Given the description of an element on the screen output the (x, y) to click on. 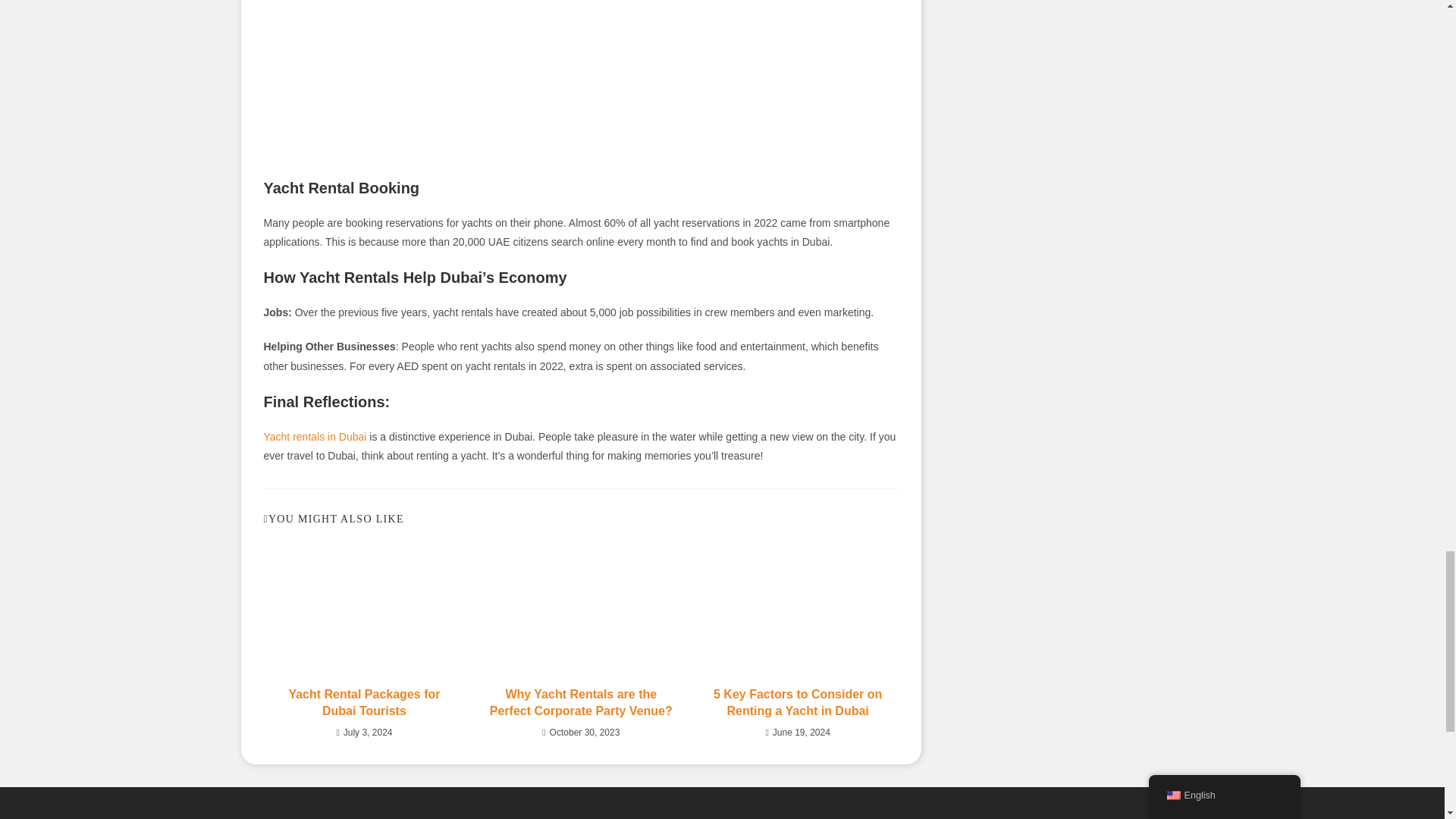
Yacht Rental Packages for Dubai Tourists (365, 703)
5 Key Factors to Consider on Renting a Yacht in Dubai (797, 703)
Why Yacht Rentals are the Perfect Corporate Party Venue? (580, 703)
